Given the description of an element on the screen output the (x, y) to click on. 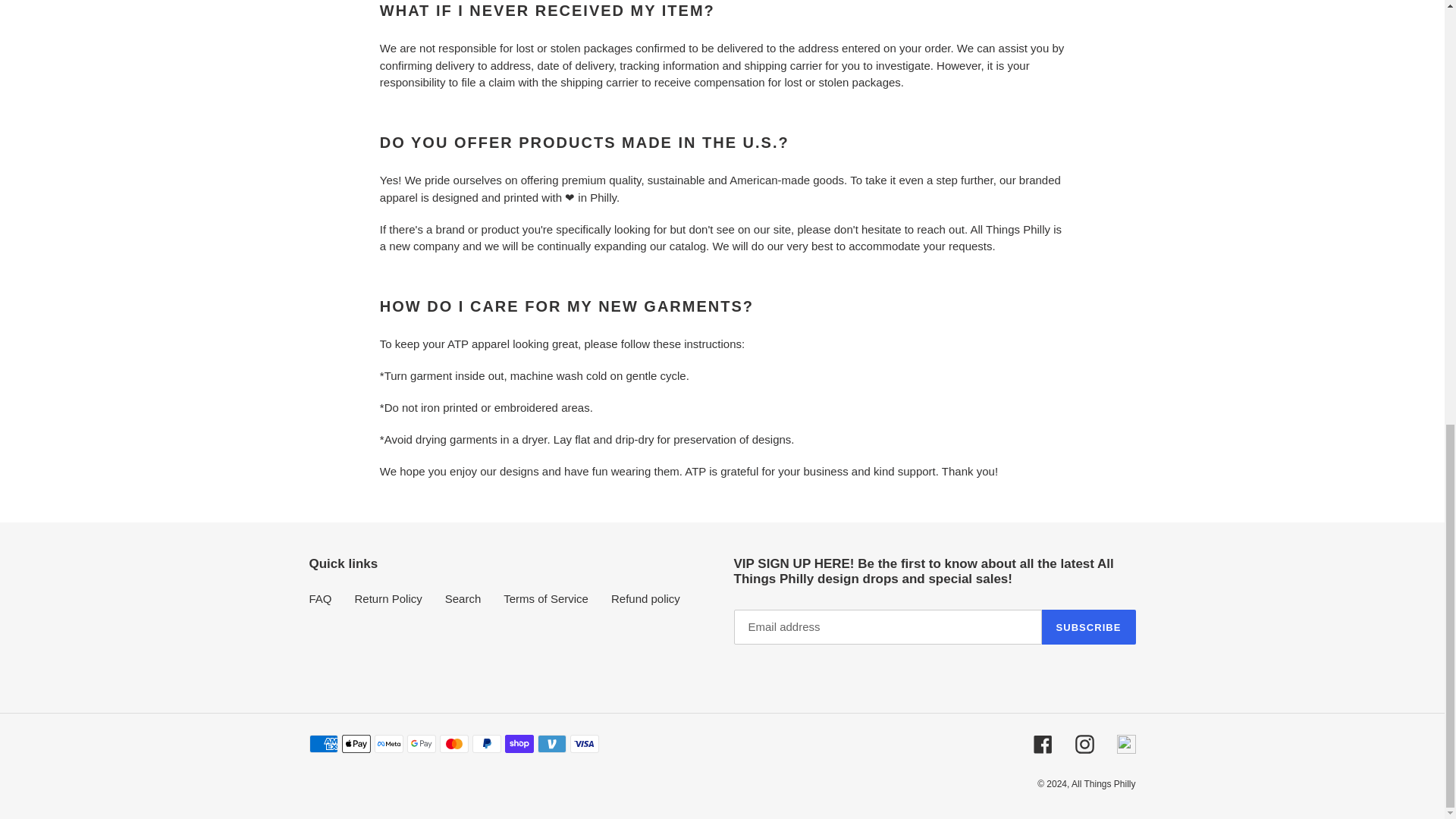
Search (463, 598)
FAQ (319, 598)
Return Policy (388, 598)
Instagram (1084, 743)
SUBSCRIBE (1088, 626)
Terms of Service (545, 598)
All Things Philly (1103, 783)
Facebook (1041, 743)
Refund policy (645, 598)
